Given the description of an element on the screen output the (x, y) to click on. 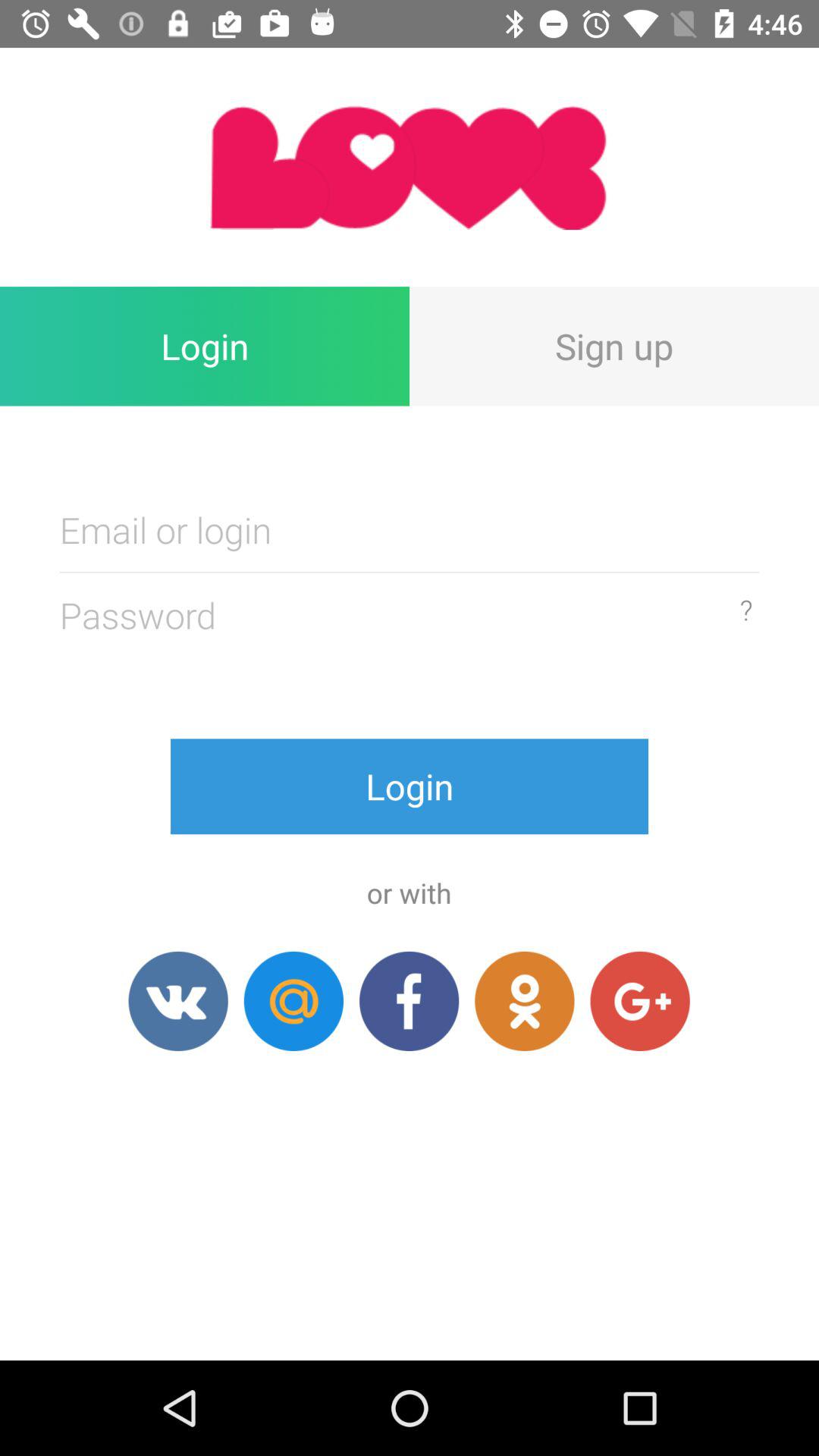
tap the icon at the bottom right corner (639, 1001)
